Given the description of an element on the screen output the (x, y) to click on. 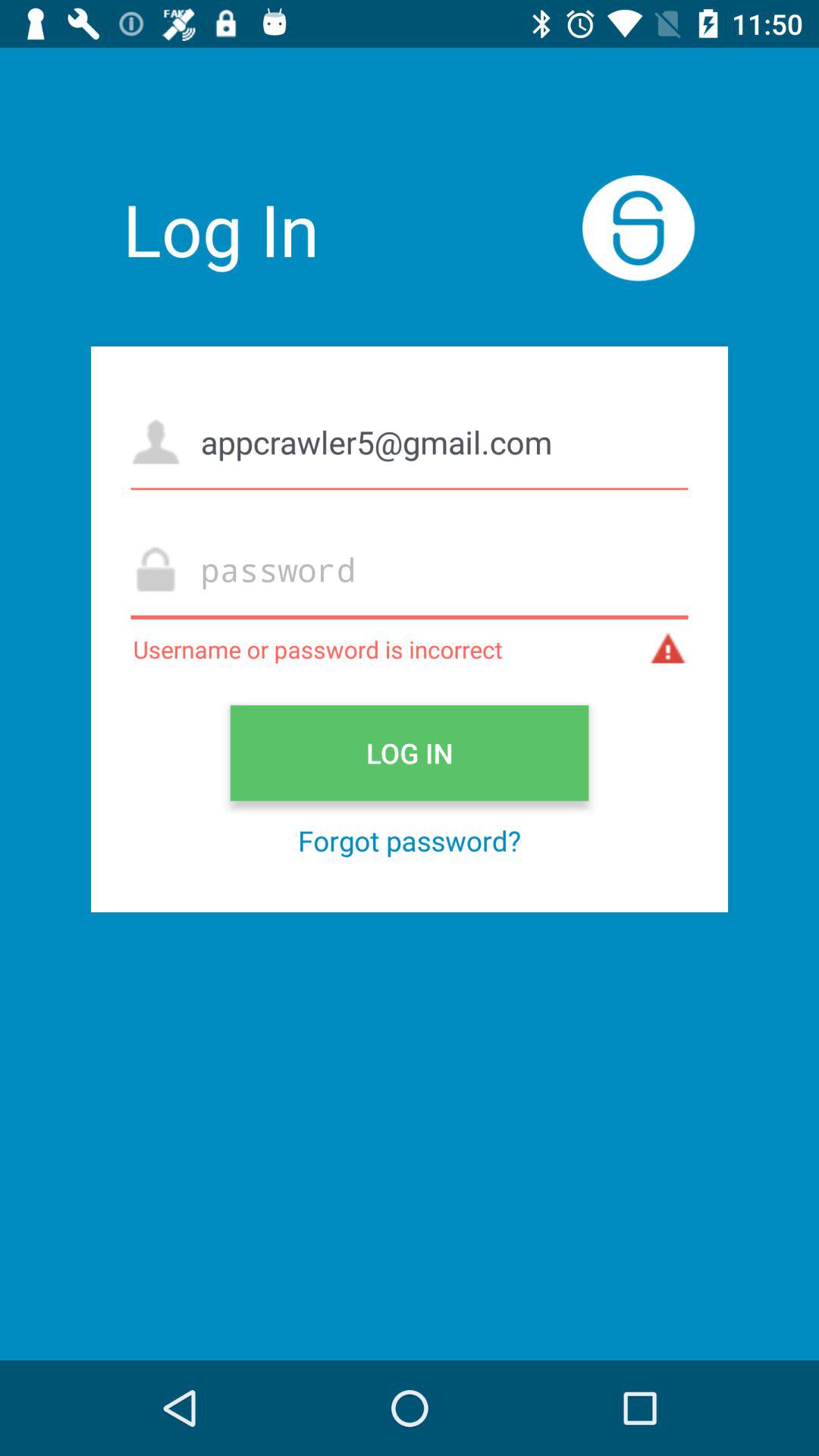
password box (409, 569)
